Given the description of an element on the screen output the (x, y) to click on. 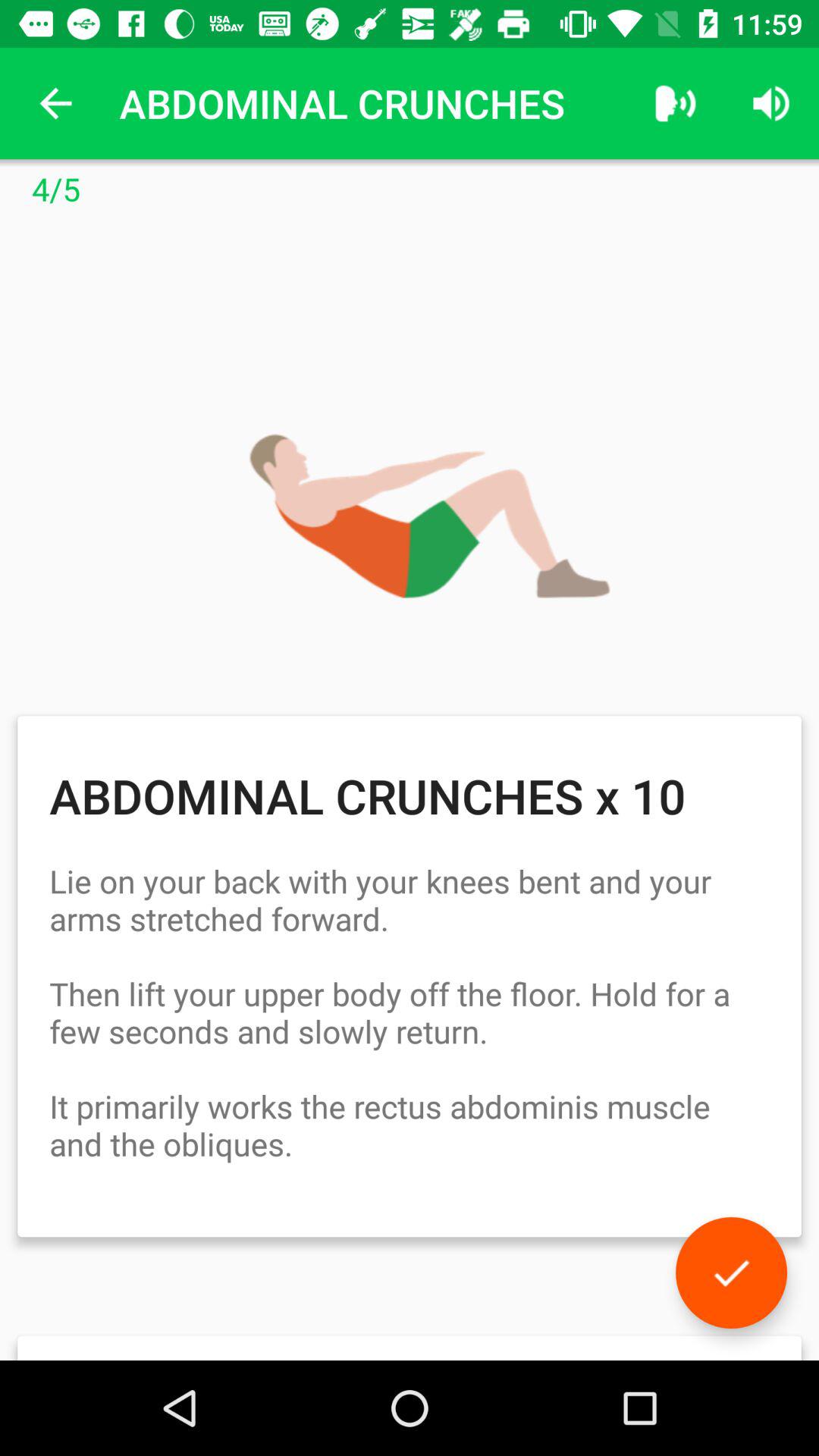
press the app to the left of the abdominal crunches app (55, 103)
